Given the description of an element on the screen output the (x, y) to click on. 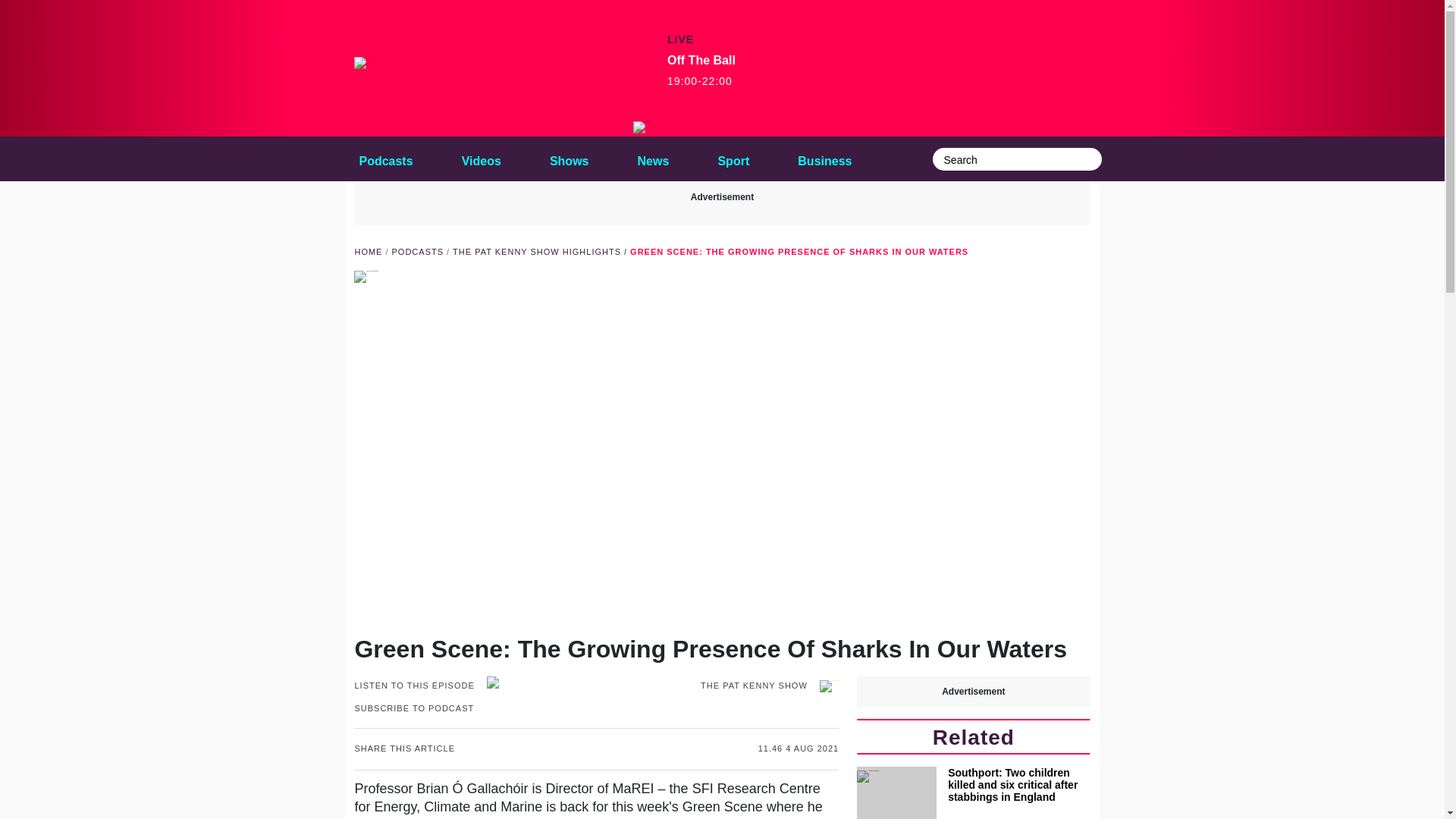
Videos (700, 70)
Business (481, 158)
Sport (824, 158)
News (733, 158)
Sport (653, 158)
Shows (733, 158)
PODCASTS (569, 158)
Off The Ball (417, 251)
Business (641, 127)
HOME (824, 158)
News (367, 251)
Podcasts (653, 158)
Podcasts (384, 158)
THE PAT KENNY SHOW (384, 158)
